Given the description of an element on the screen output the (x, y) to click on. 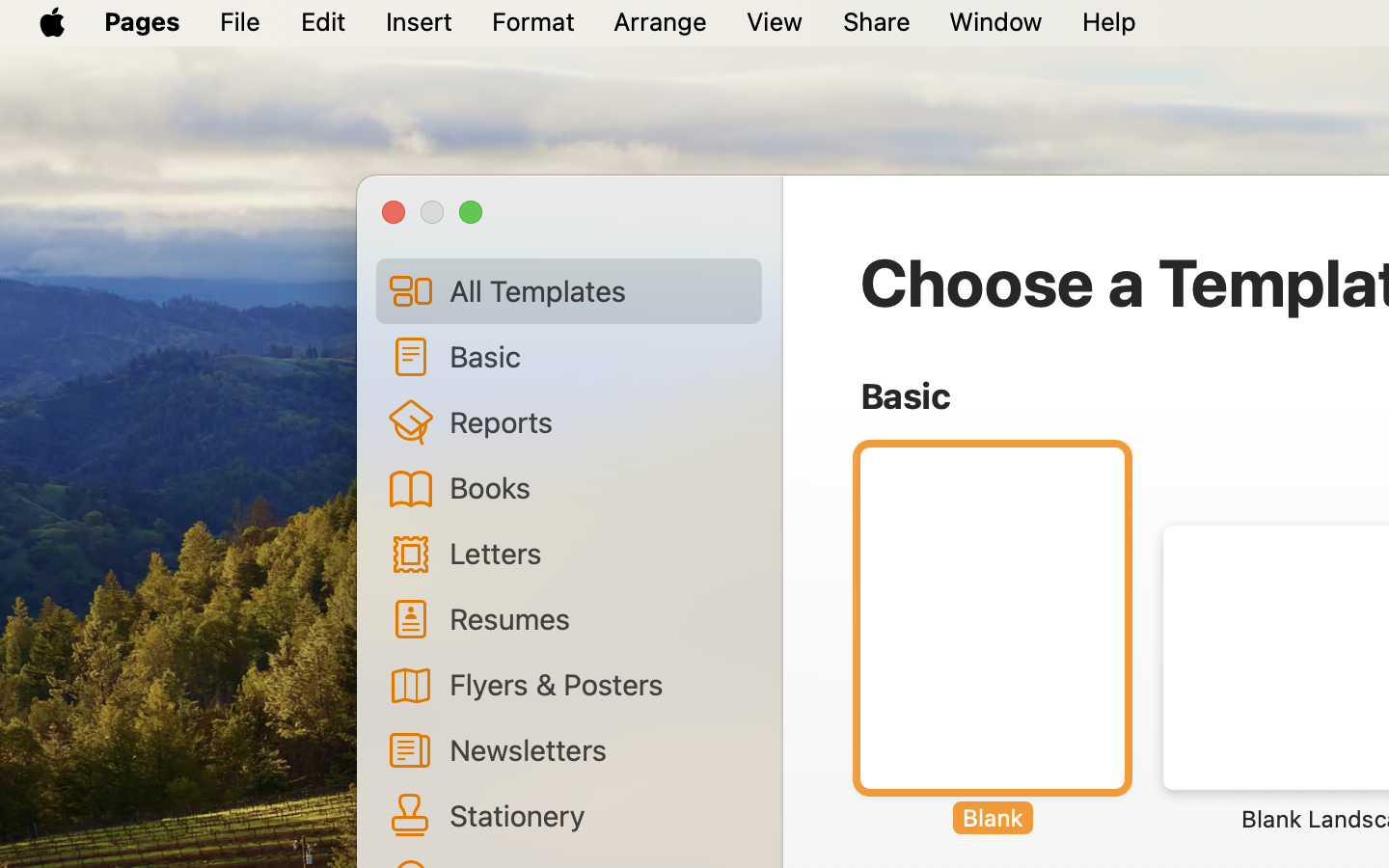
Resumes Element type: AXStaticText (597, 617)
Flyers & Posters Element type: AXStaticText (597, 683)
All Templates Element type: AXStaticText (597, 289)
Reports Element type: AXStaticText (597, 421)
Books Element type: AXStaticText (597, 486)
